Given the description of an element on the screen output the (x, y) to click on. 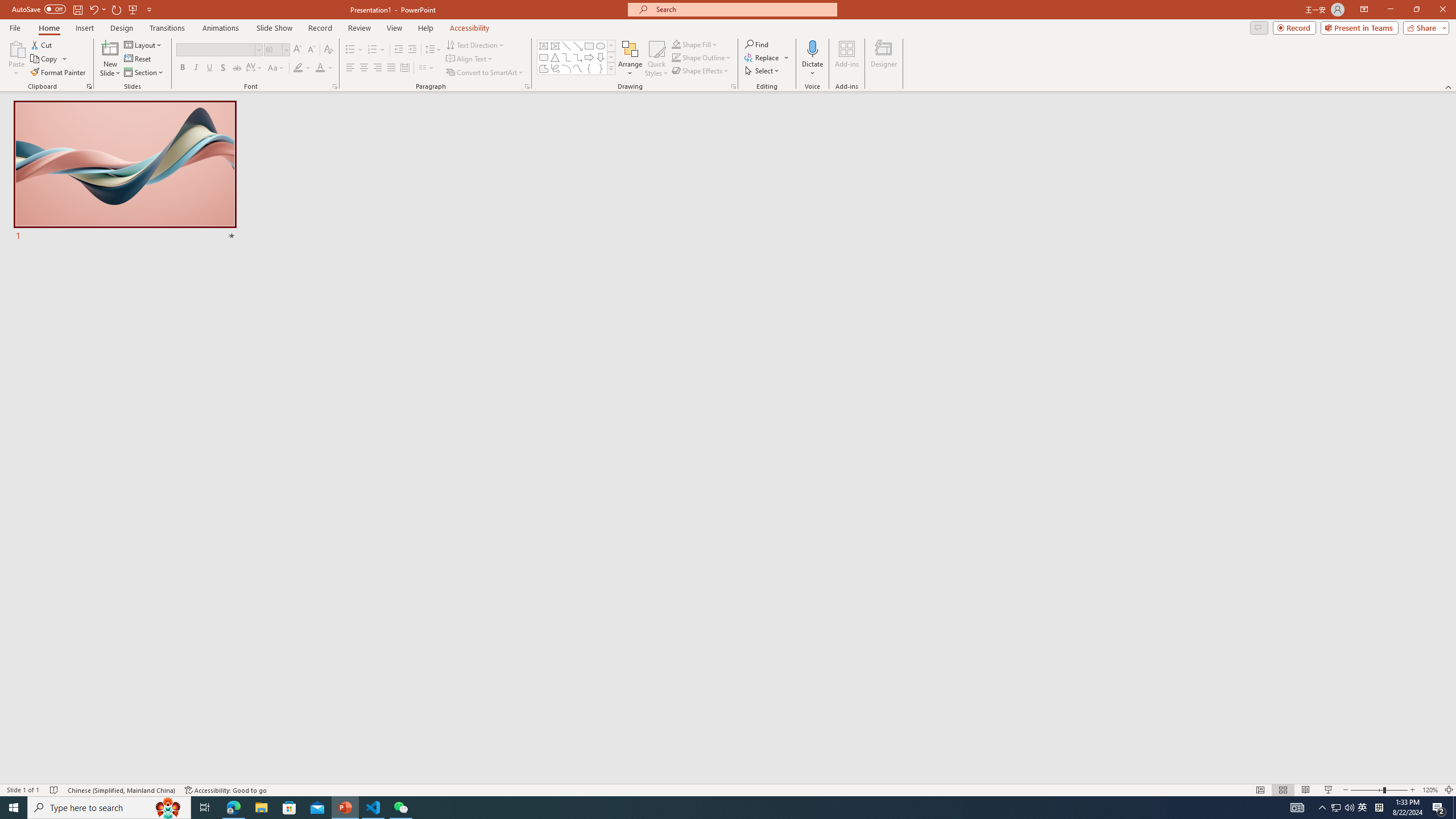
Accessibility Checker Accessibility: Good to go (226, 790)
